Given the description of an element on the screen output the (x, y) to click on. 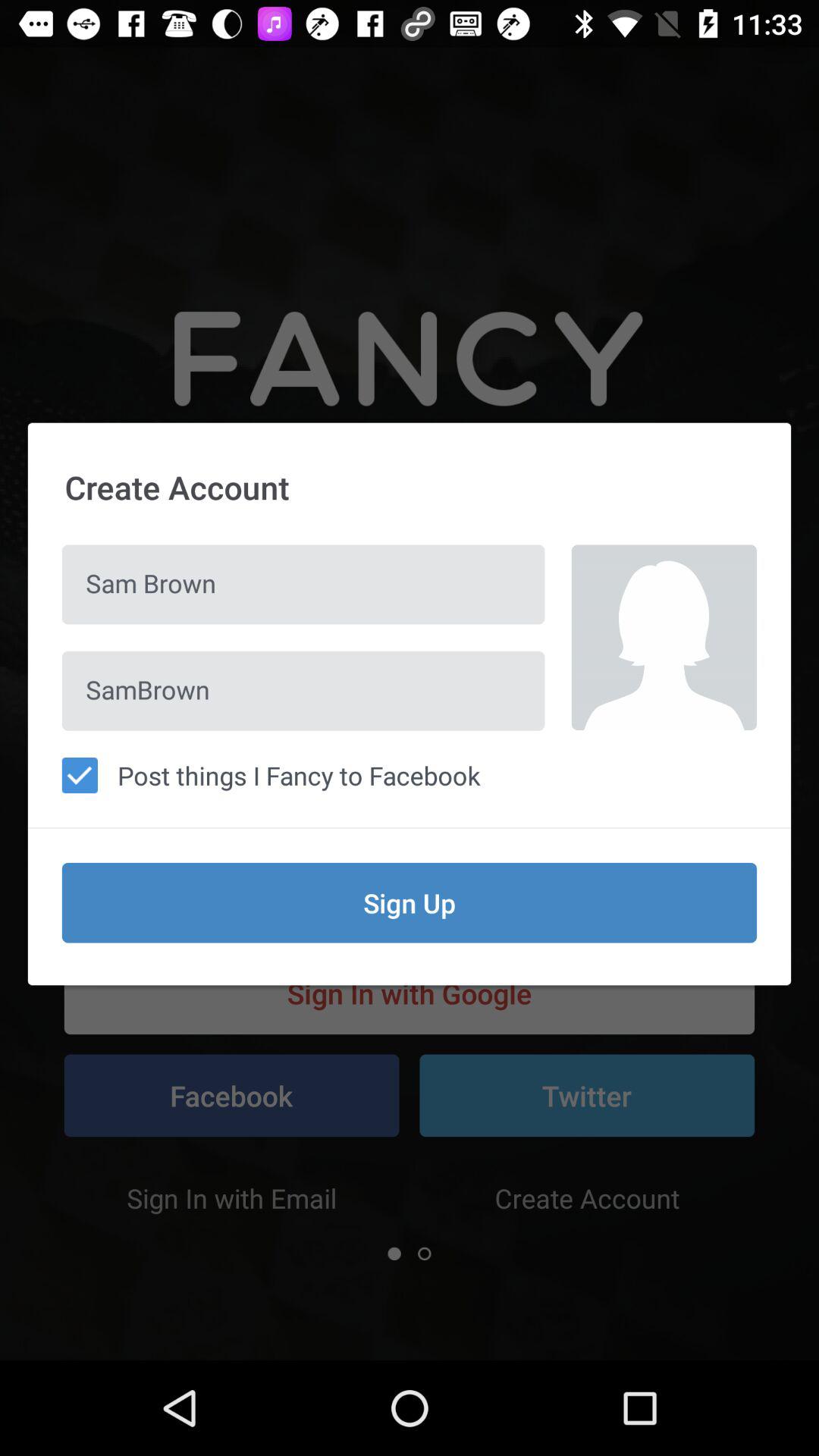
choose the icon below sambrown (409, 775)
